Given the description of an element on the screen output the (x, y) to click on. 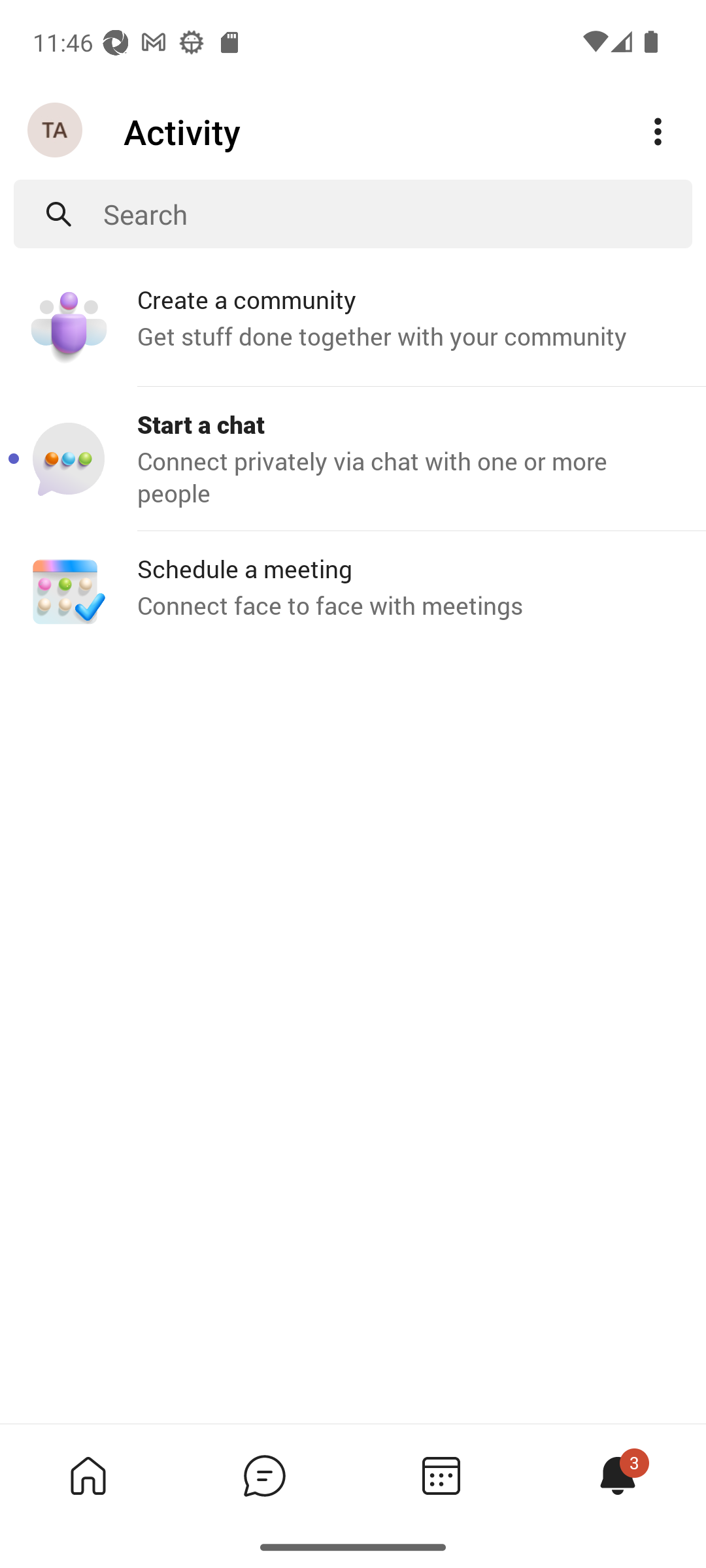
More options (657, 131)
Navigation (56, 130)
Search (397, 213)
Home tab,1 of 4, not selected (88, 1475)
Chat tab,2 of 4, not selected (264, 1475)
Calendar tab,3 of 4, not selected (441, 1475)
Activity tab, 4 of 4, 3 new 3 (617, 1475)
